Given the description of an element on the screen output the (x, y) to click on. 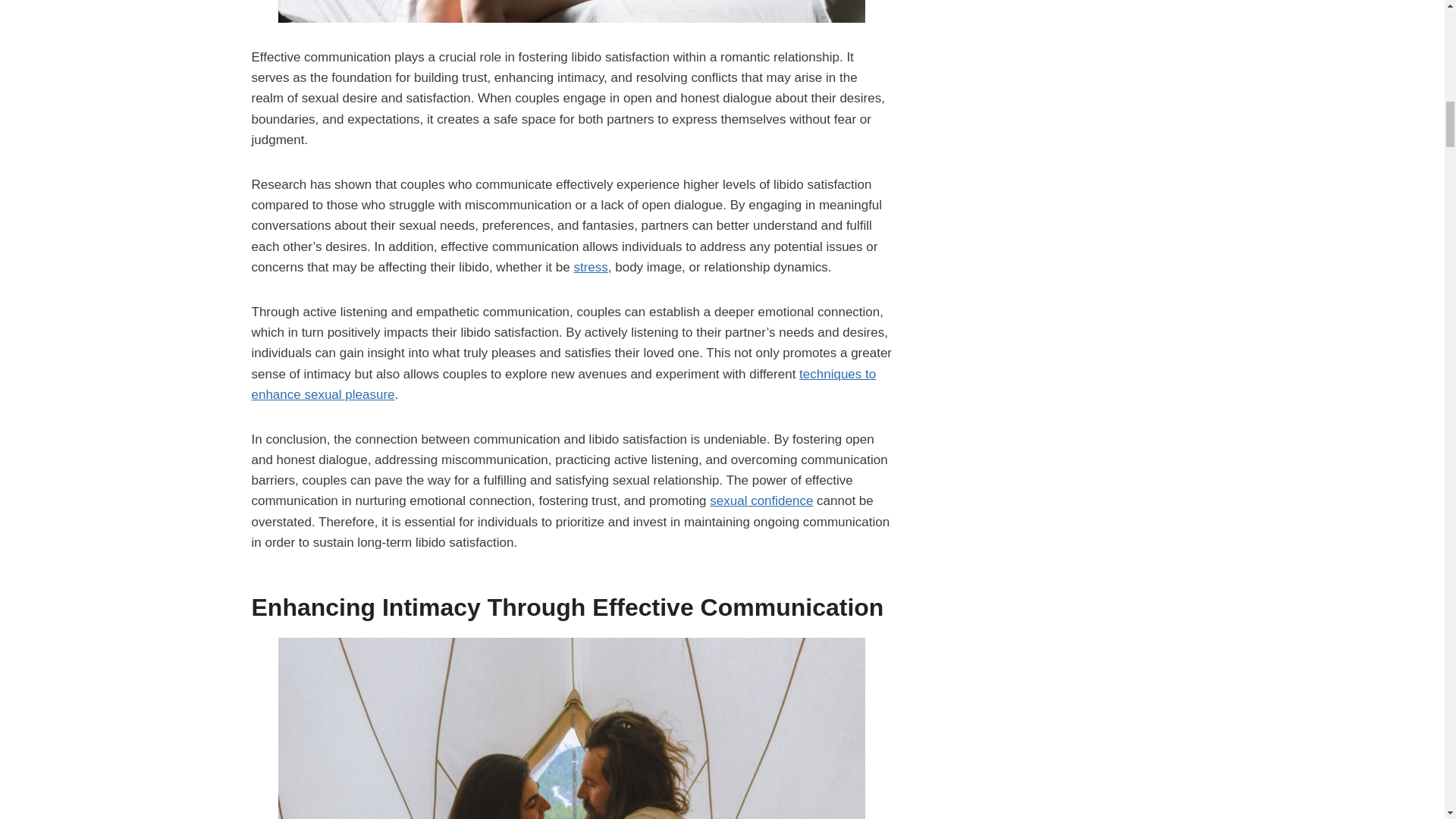
techniques to enhance sexual pleasure (563, 384)
stress (590, 267)
sexual confidence (761, 500)
